Given the description of an element on the screen output the (x, y) to click on. 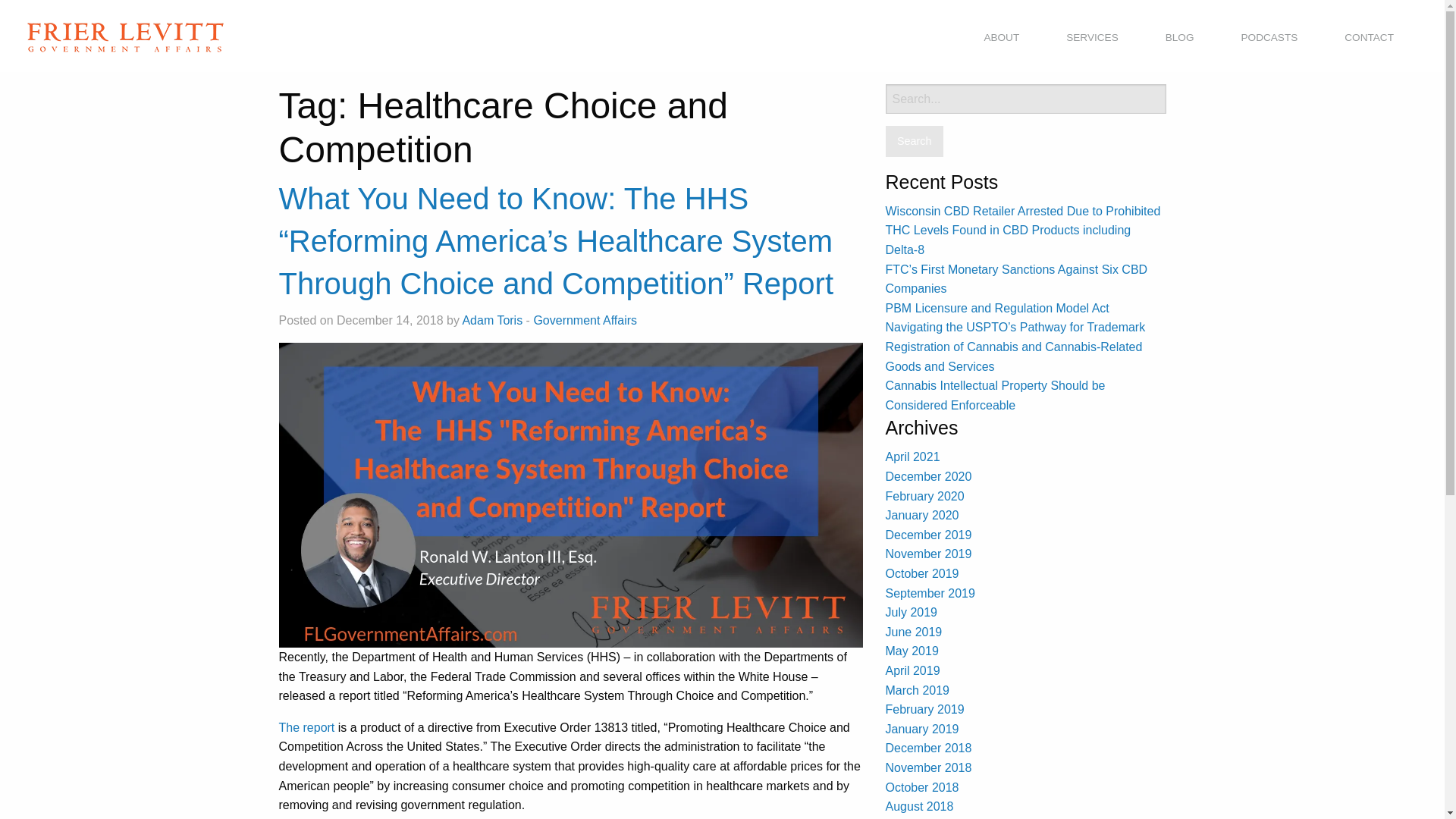
Search (914, 141)
Government Affairs (584, 319)
December 2020 (928, 476)
January 2020 (922, 514)
ABOUT (1000, 37)
Posts by Adam Toris (491, 319)
July 2019 (911, 612)
Search (914, 141)
